Given the description of an element on the screen output the (x, y) to click on. 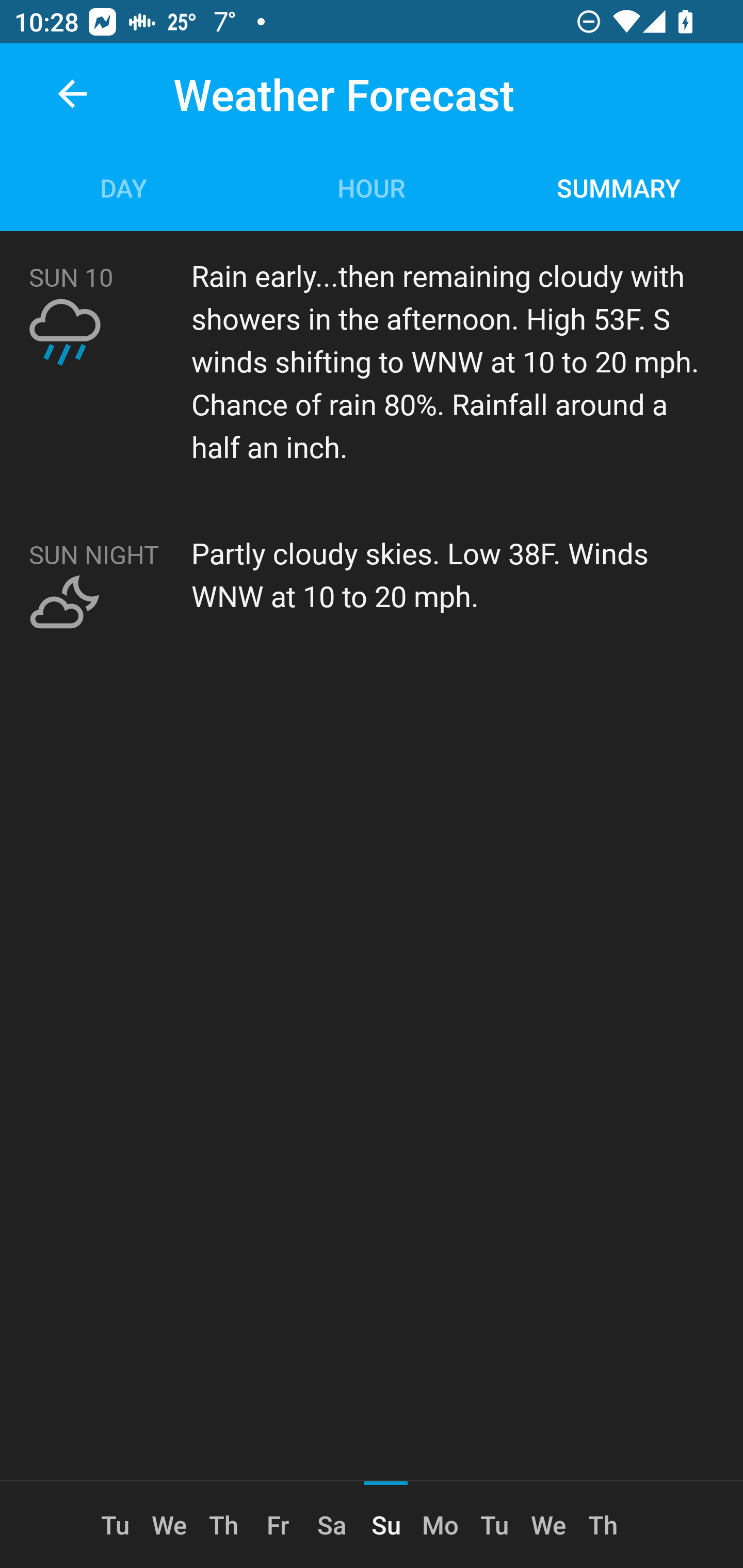
back (71, 93)
Day Tab DAY (123, 187)
Hour Tab HOUR (371, 187)
Tu (115, 1524)
We (169, 1524)
Th (223, 1524)
Fr (277, 1524)
Sa (331, 1524)
Mo (440, 1524)
Tu (494, 1524)
We (548, 1524)
Th (602, 1524)
